Given the description of an element on the screen output the (x, y) to click on. 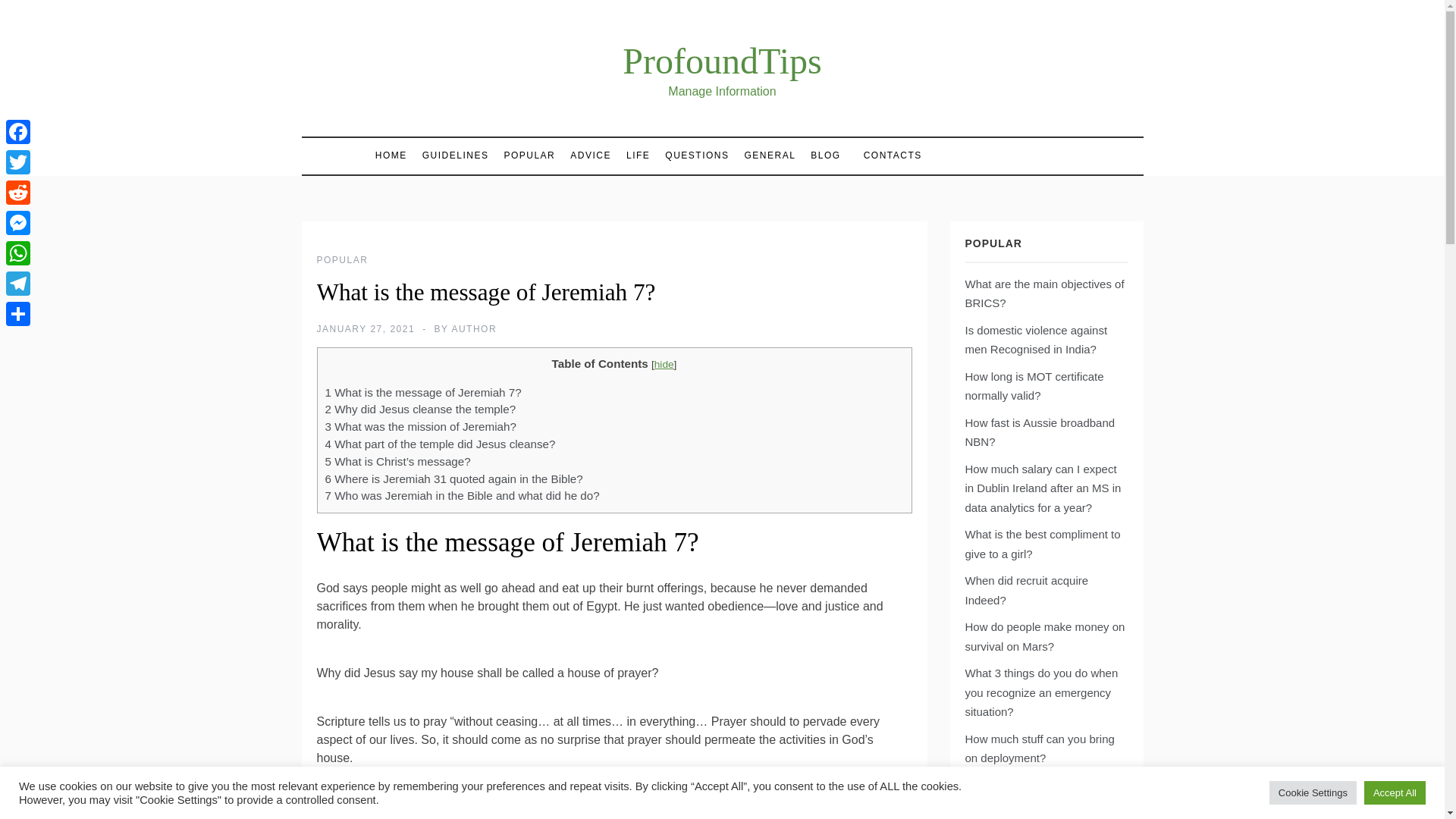
GENERAL (769, 155)
POPULAR (342, 259)
6 Where is Jeremiah 31 quoted again in the Bible? (453, 478)
4 What part of the temple did Jesus cleanse? (439, 443)
Messenger (17, 223)
GUIDELINES (455, 155)
AUTHOR (473, 328)
When did recruit acquire Indeed? (1025, 590)
How much stuff can you bring on deployment? (1038, 748)
